Given the description of an element on the screen output the (x, y) to click on. 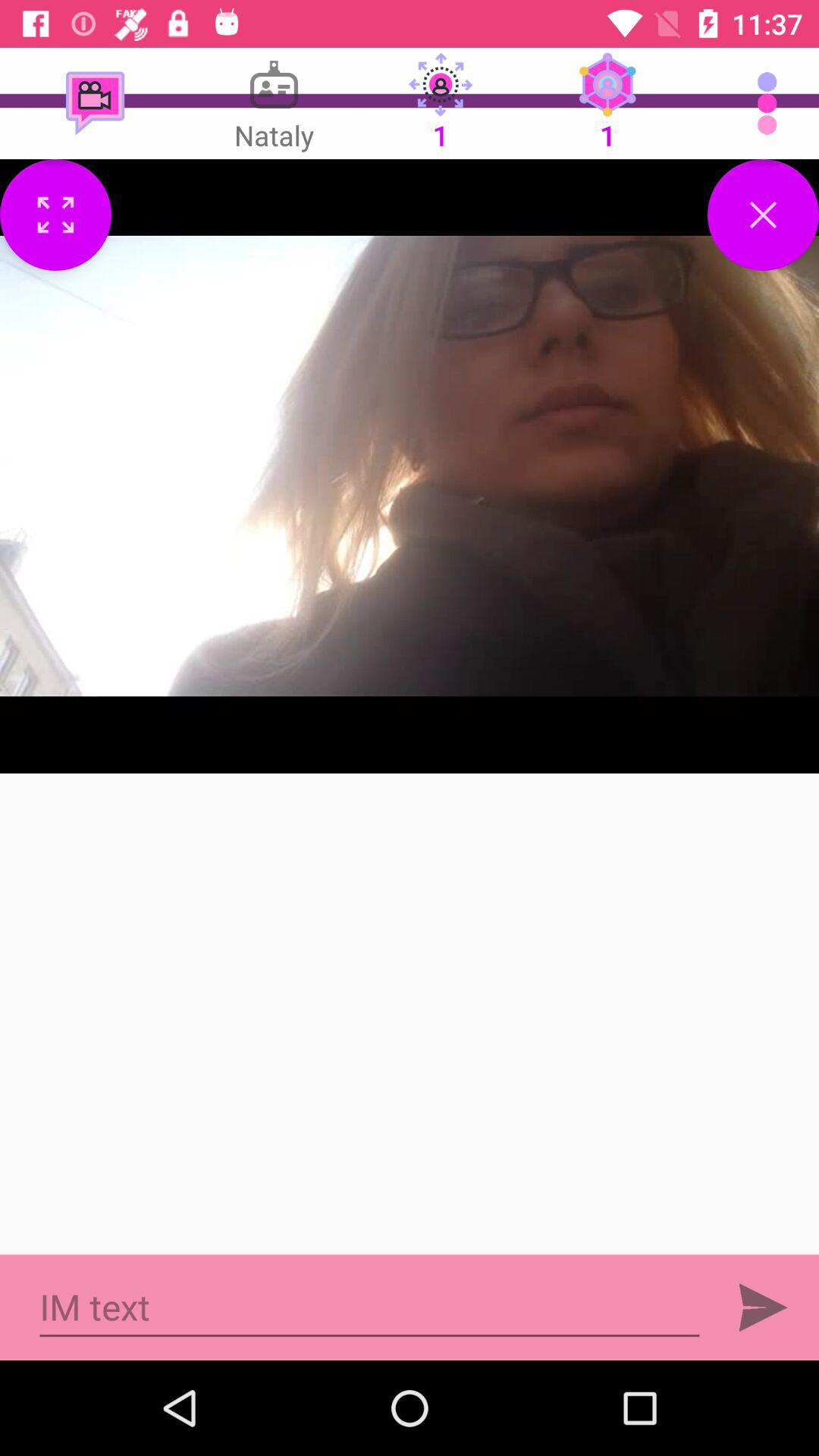
close video (763, 214)
